Given the description of an element on the screen output the (x, y) to click on. 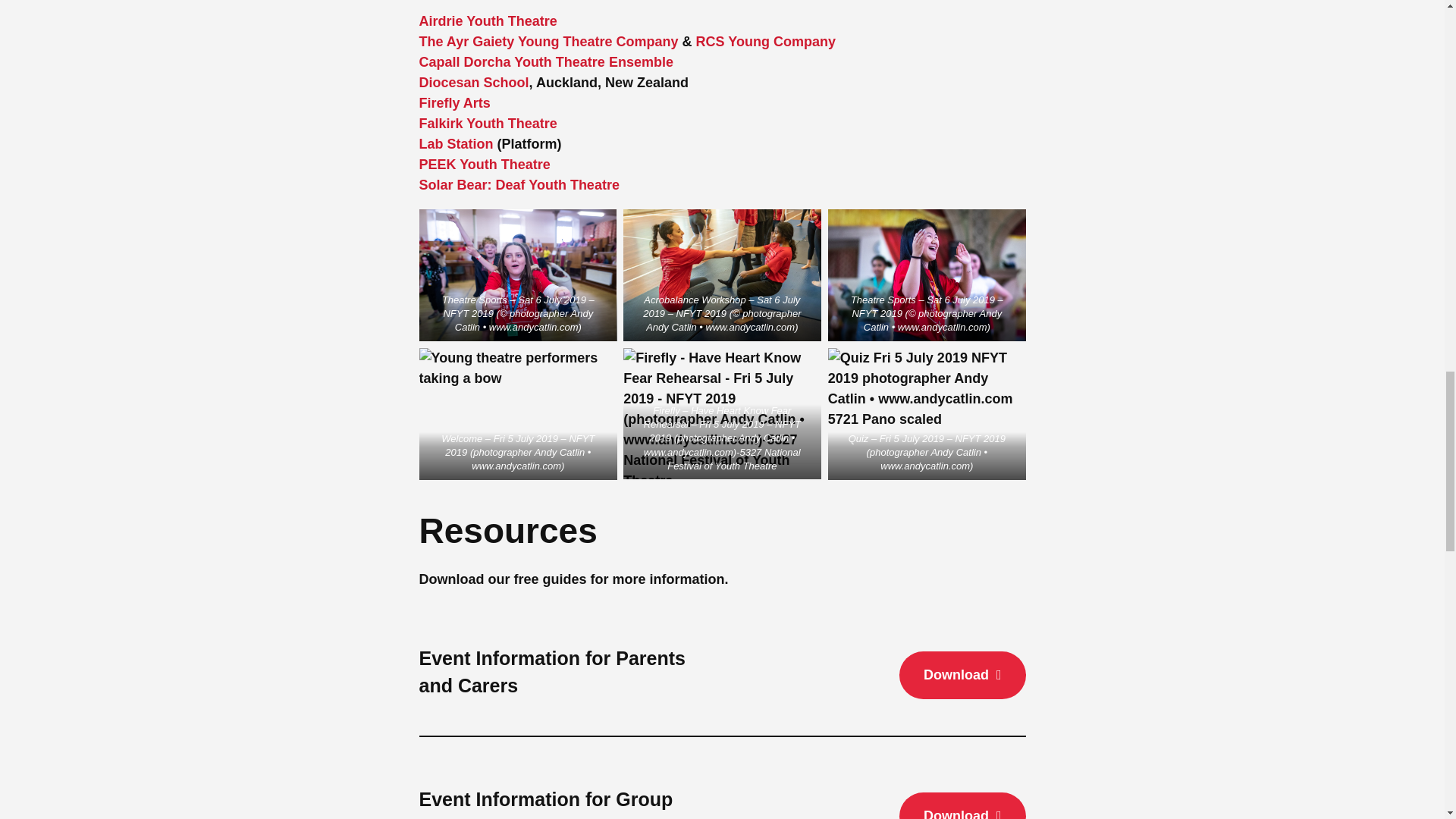
National Festival of Youth Theatre 2019 5 (722, 413)
Airdrie Youth Theatre (487, 20)
Capall Dorcha Youth Theatre Ensemble (545, 61)
National Festival of Youth Theatre 2019 1 (517, 275)
National Festival of Youth Theatre 2019 3 (927, 275)
The Ayr Gaiety Young Theatre Company (548, 41)
National Festival of Youth Theatre 2019 4 (517, 413)
RCS Young Company (765, 41)
National Festival of Youth Theatre 2019 6 (927, 413)
National Festival of Youth Theatre 2019 2 (722, 275)
